Given the description of an element on the screen output the (x, y) to click on. 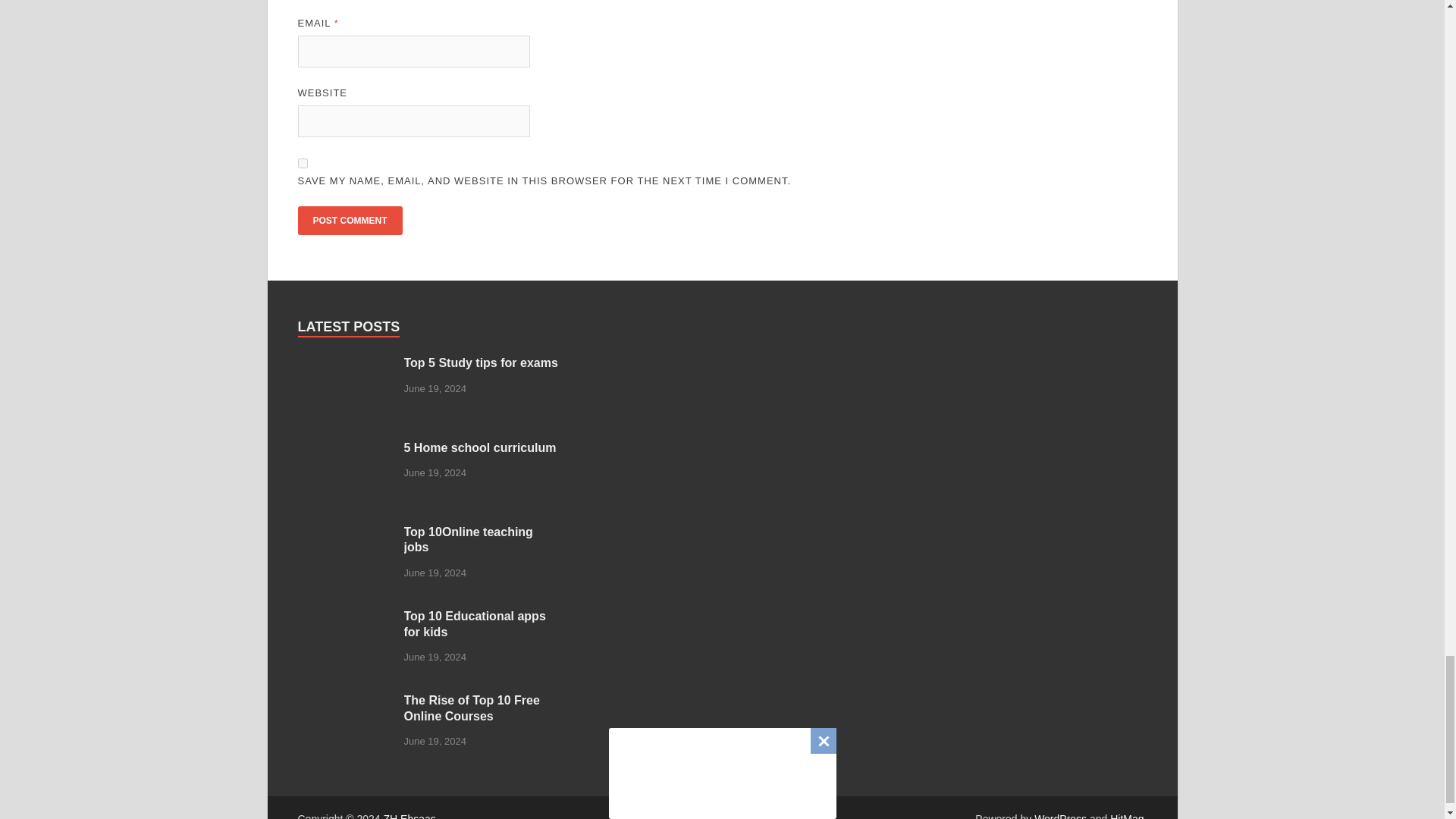
Post Comment (349, 220)
Top 10Online teaching jobs (344, 533)
Post Comment (349, 220)
Top 5 Study tips for exams (344, 364)
5 Home school curriculum (344, 449)
Top 10 Educational apps for kids (344, 617)
The Rise of Top 10  Free Online Courses (344, 701)
yes (302, 162)
